Given the description of an element on the screen output the (x, y) to click on. 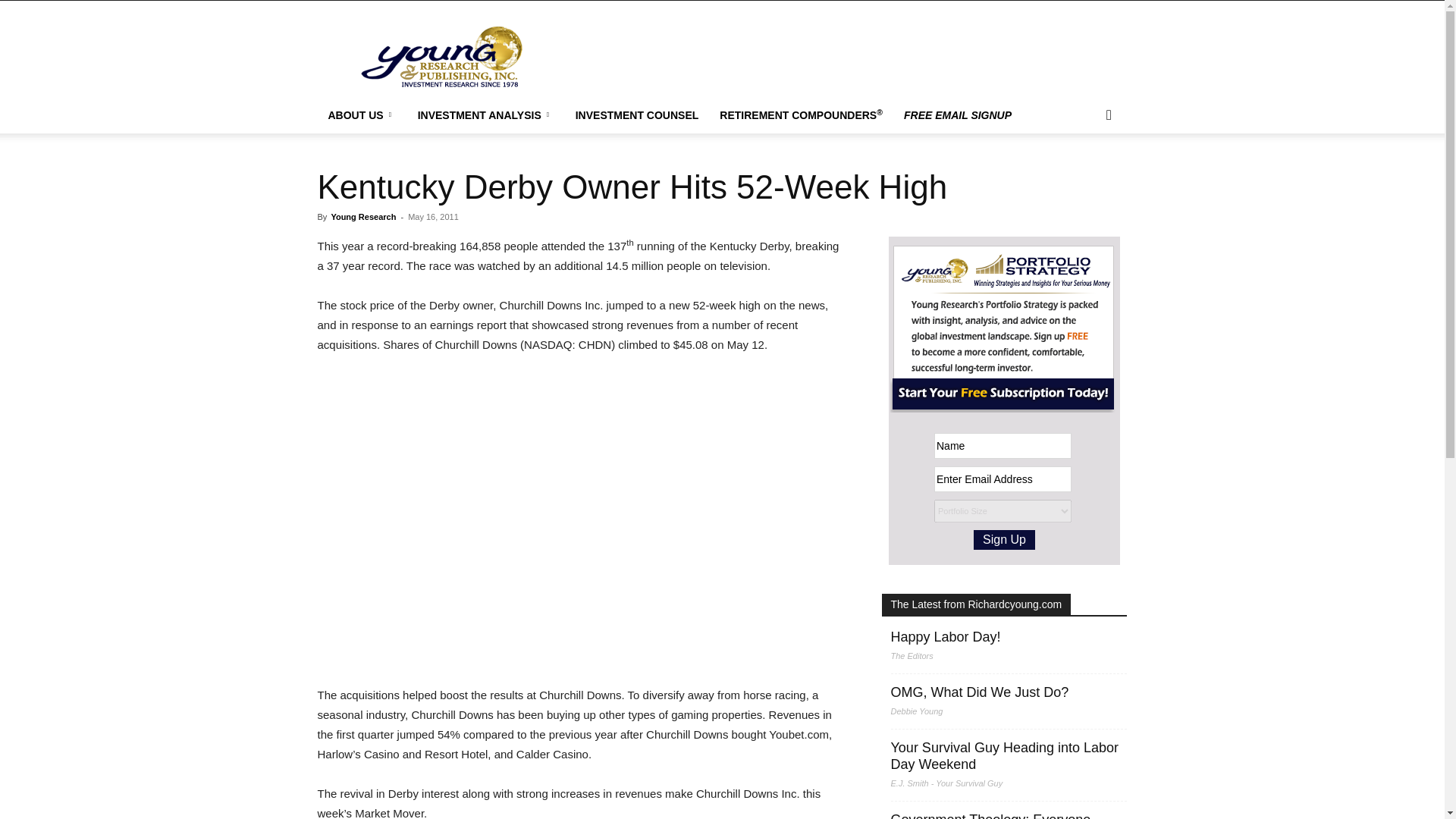
INVESTMENT ANALYSIS (485, 115)
Enter Email Address (1002, 479)
ABOUT US (361, 115)
Sign Up (1004, 539)
Name (1002, 445)
